Given the description of an element on the screen output the (x, y) to click on. 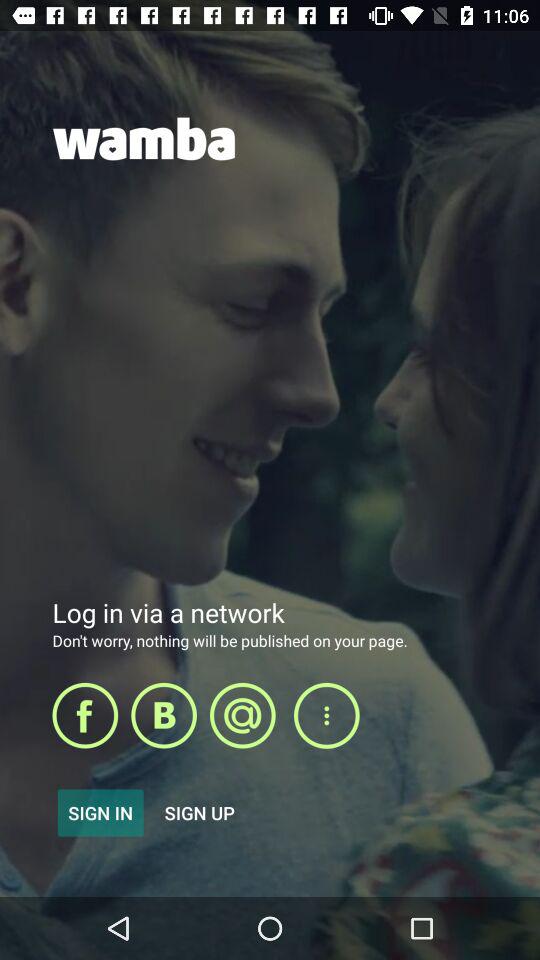
click the facebook option (85, 715)
